Given the description of an element on the screen output the (x, y) to click on. 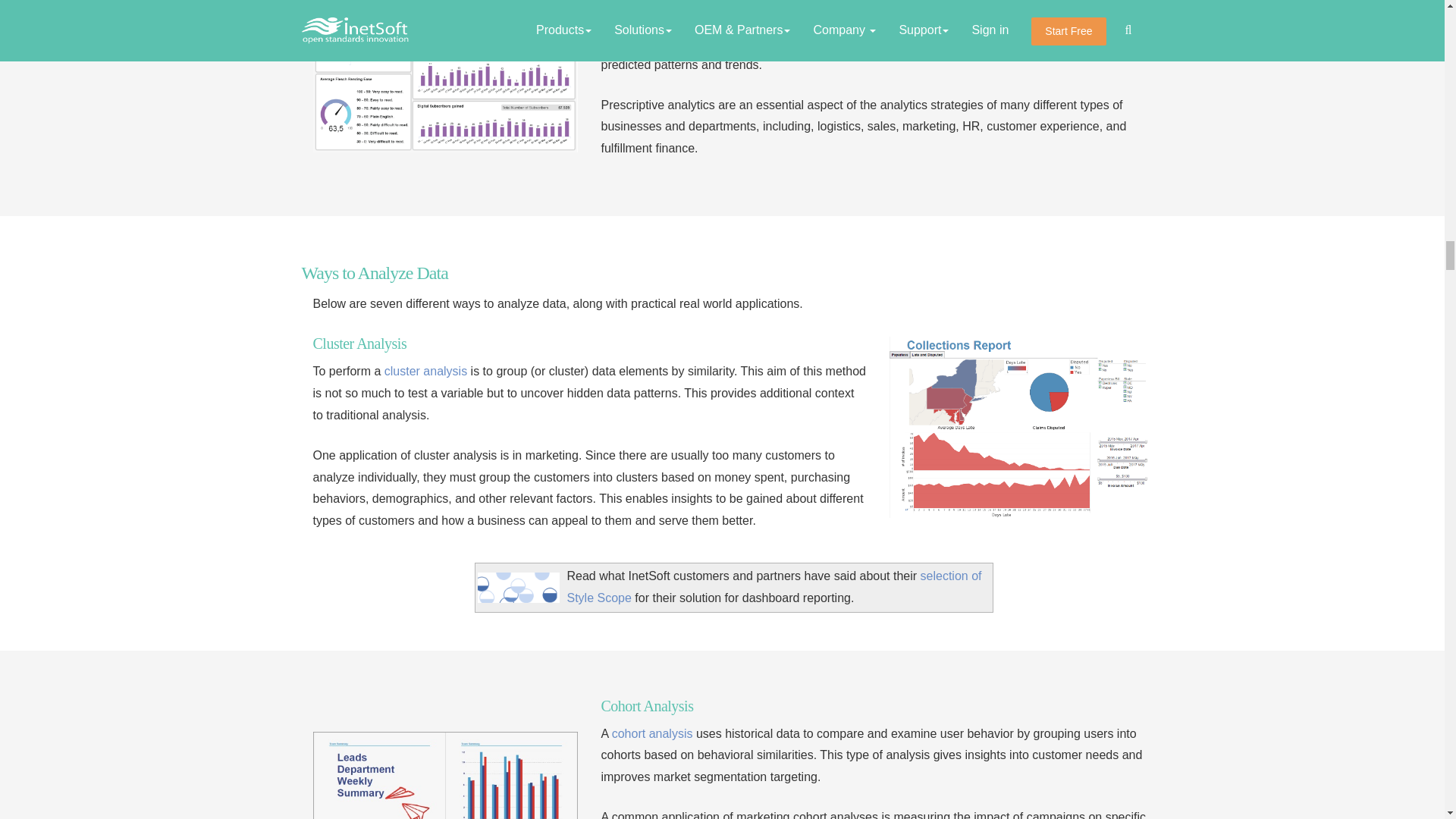
Read testimonials (774, 586)
